Given the description of an element on the screen output the (x, y) to click on. 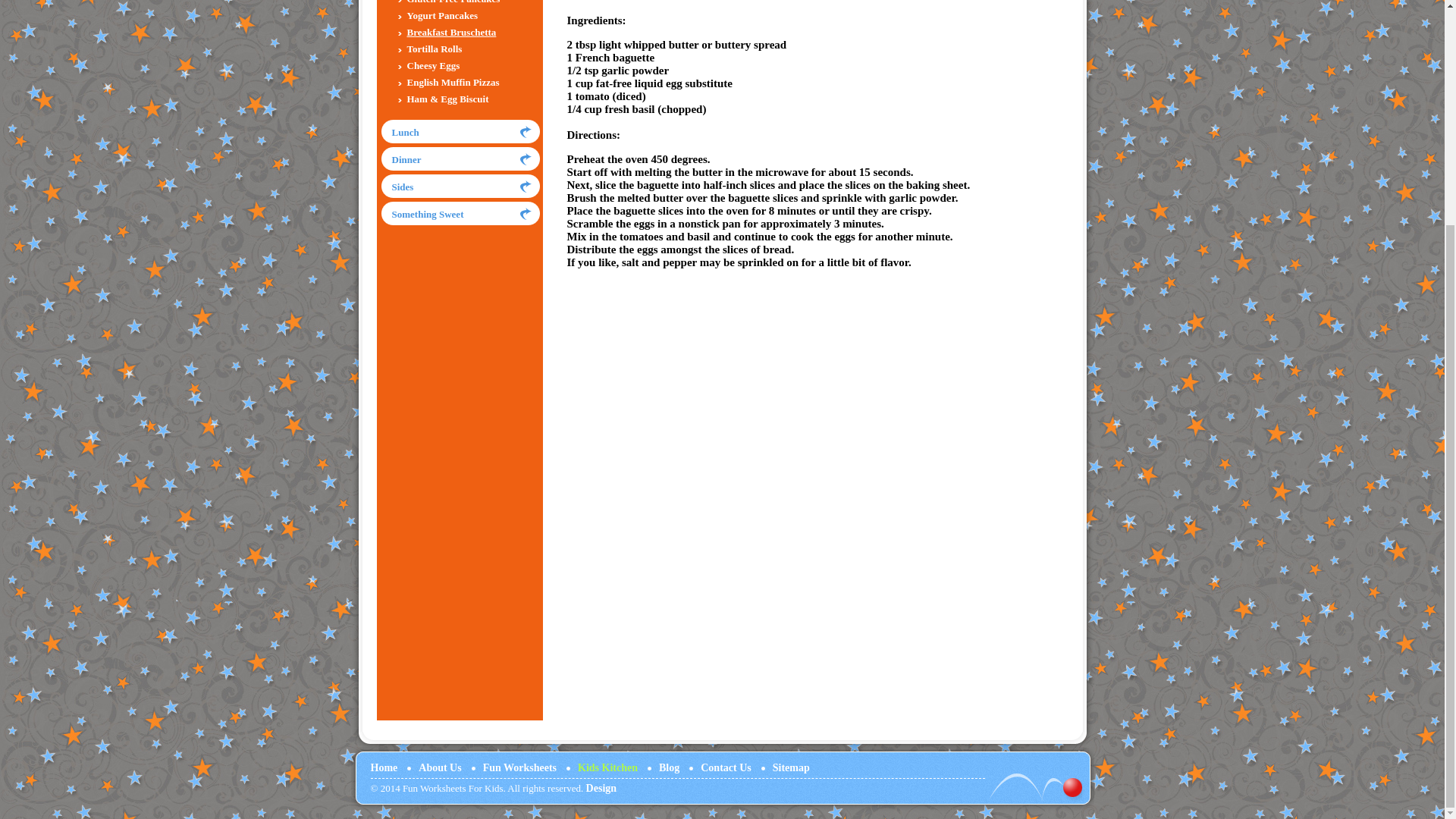
Contact Us (725, 767)
Dinner (405, 159)
Yogurt Pancakes (441, 15)
Sides (402, 186)
Fun Worksheets and Ideas for Kids (383, 767)
Kids Kitchen (607, 767)
Something Sweet (427, 214)
Lunch (405, 132)
Cheesy Eggs (433, 65)
Contact Us (725, 767)
